Given the description of an element on the screen output the (x, y) to click on. 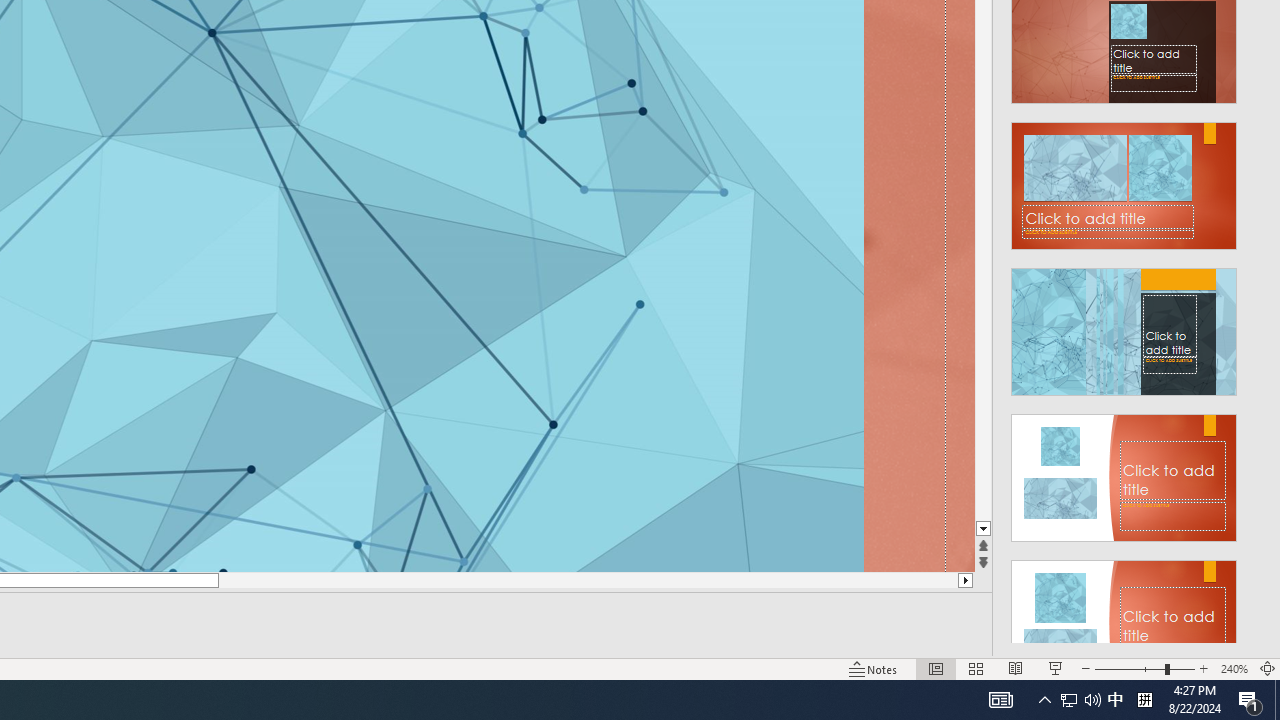
Design Idea (1124, 618)
Zoom 240% (1234, 668)
